Given the description of an element on the screen output the (x, y) to click on. 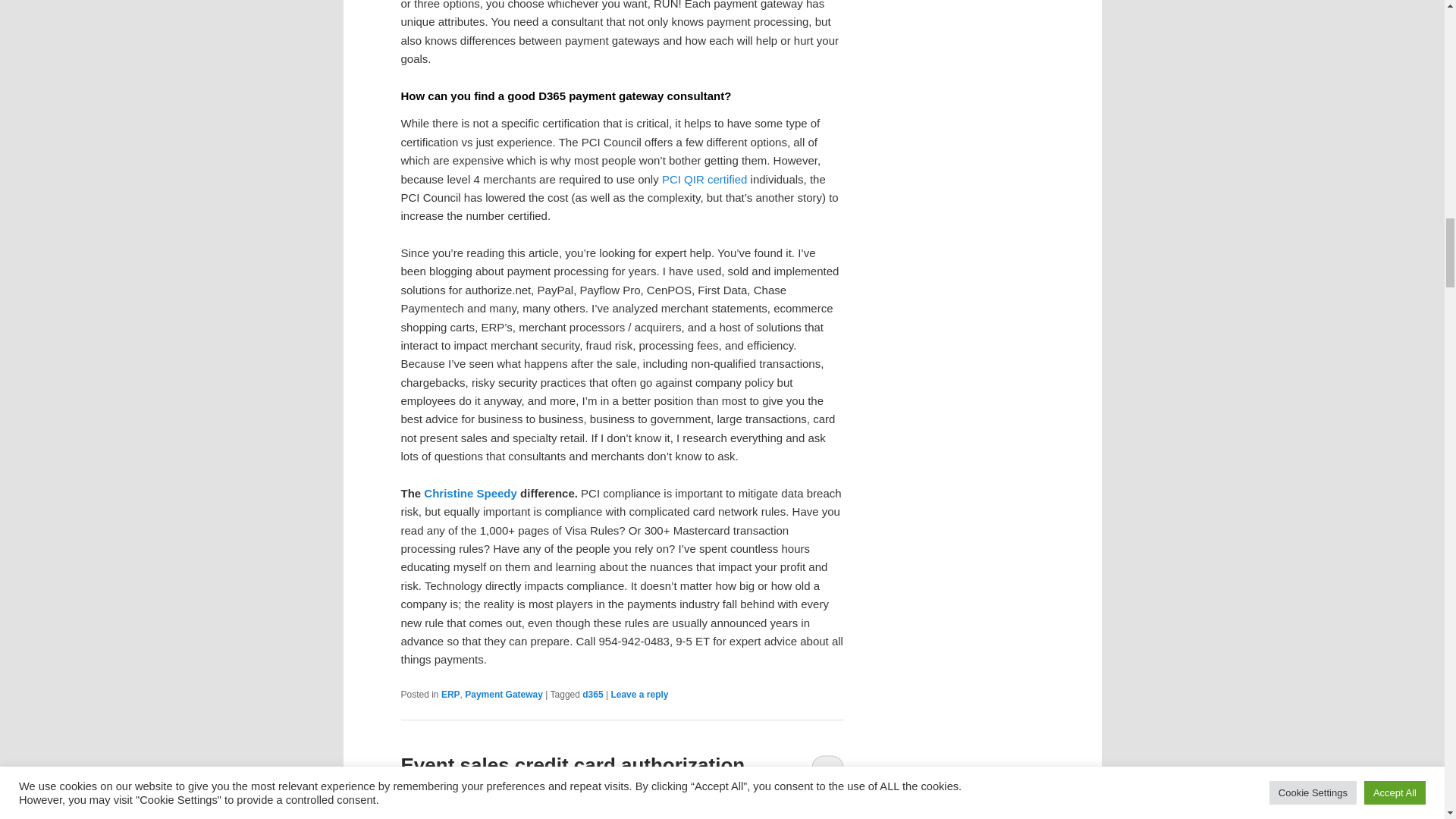
PCI QIR certified (706, 178)
Christine Speedy (469, 492)
9:12 am (482, 818)
View all posts by Christine Speedy (572, 818)
